Given the description of an element on the screen output the (x, y) to click on. 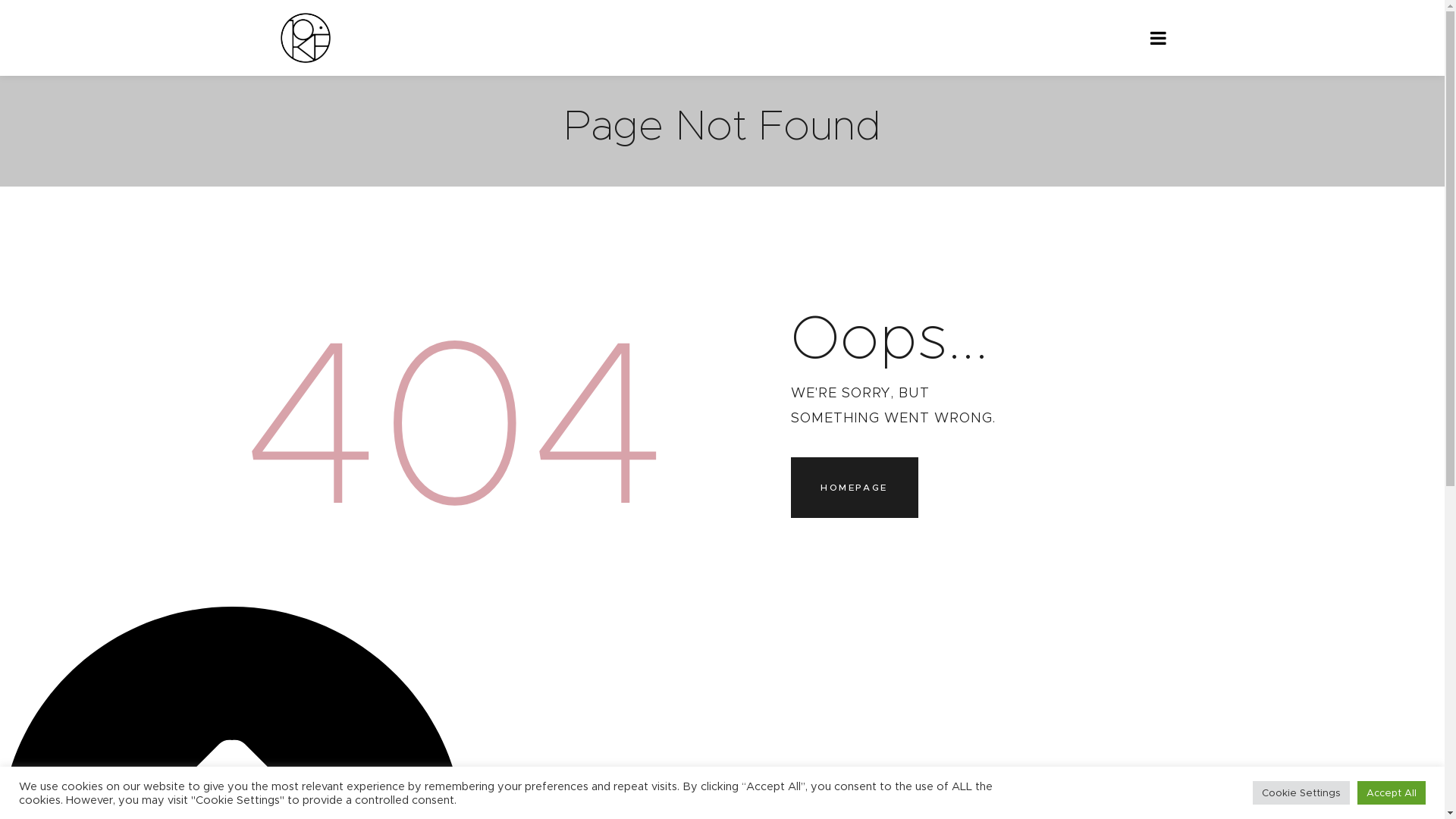
HOMEPAGE Element type: text (853, 487)
Accept All Element type: text (1391, 792)
Cookie Settings Element type: text (1300, 792)
